Given the description of an element on the screen output the (x, y) to click on. 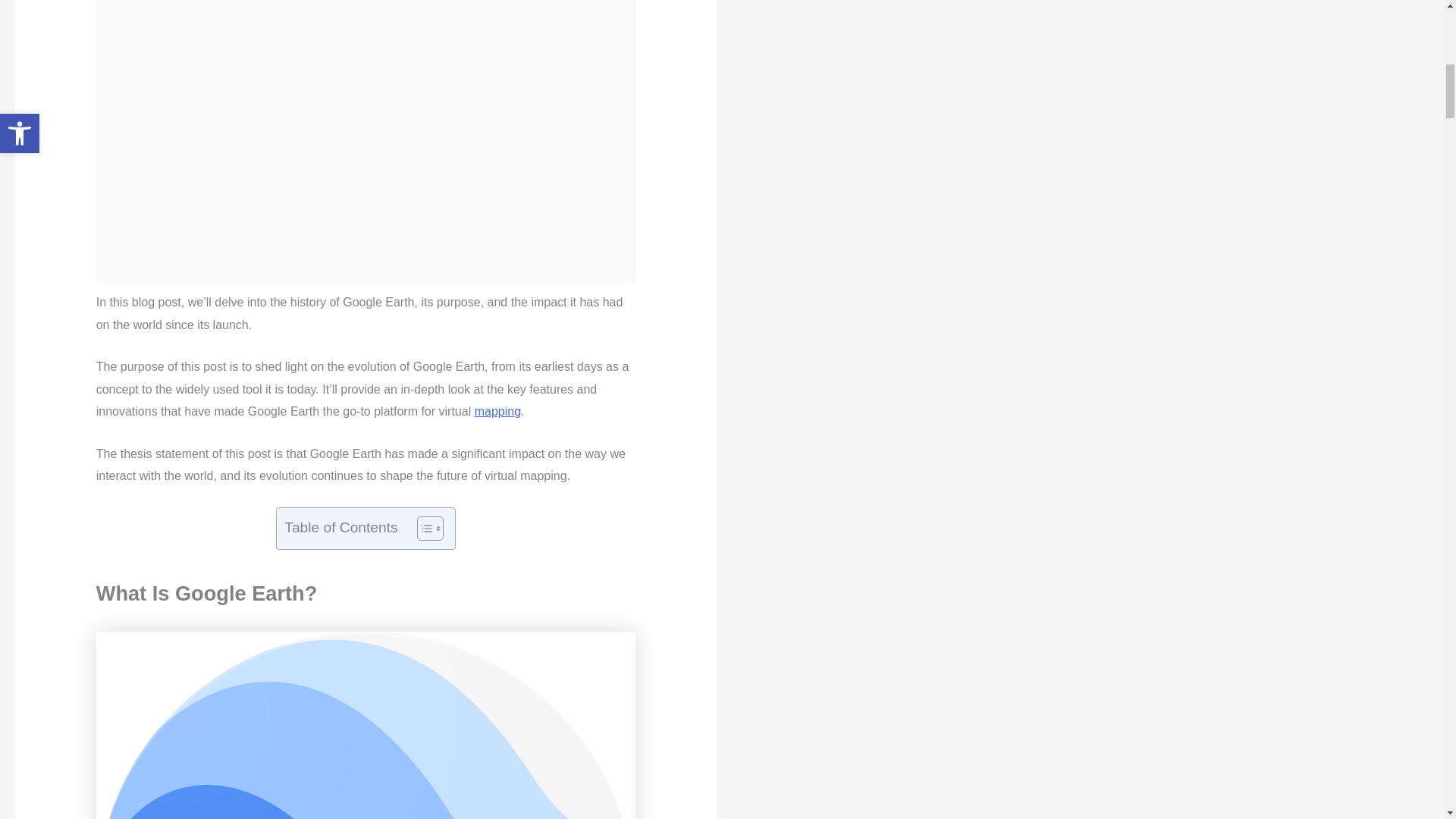
mapping (497, 410)
